Given the description of an element on the screen output the (x, y) to click on. 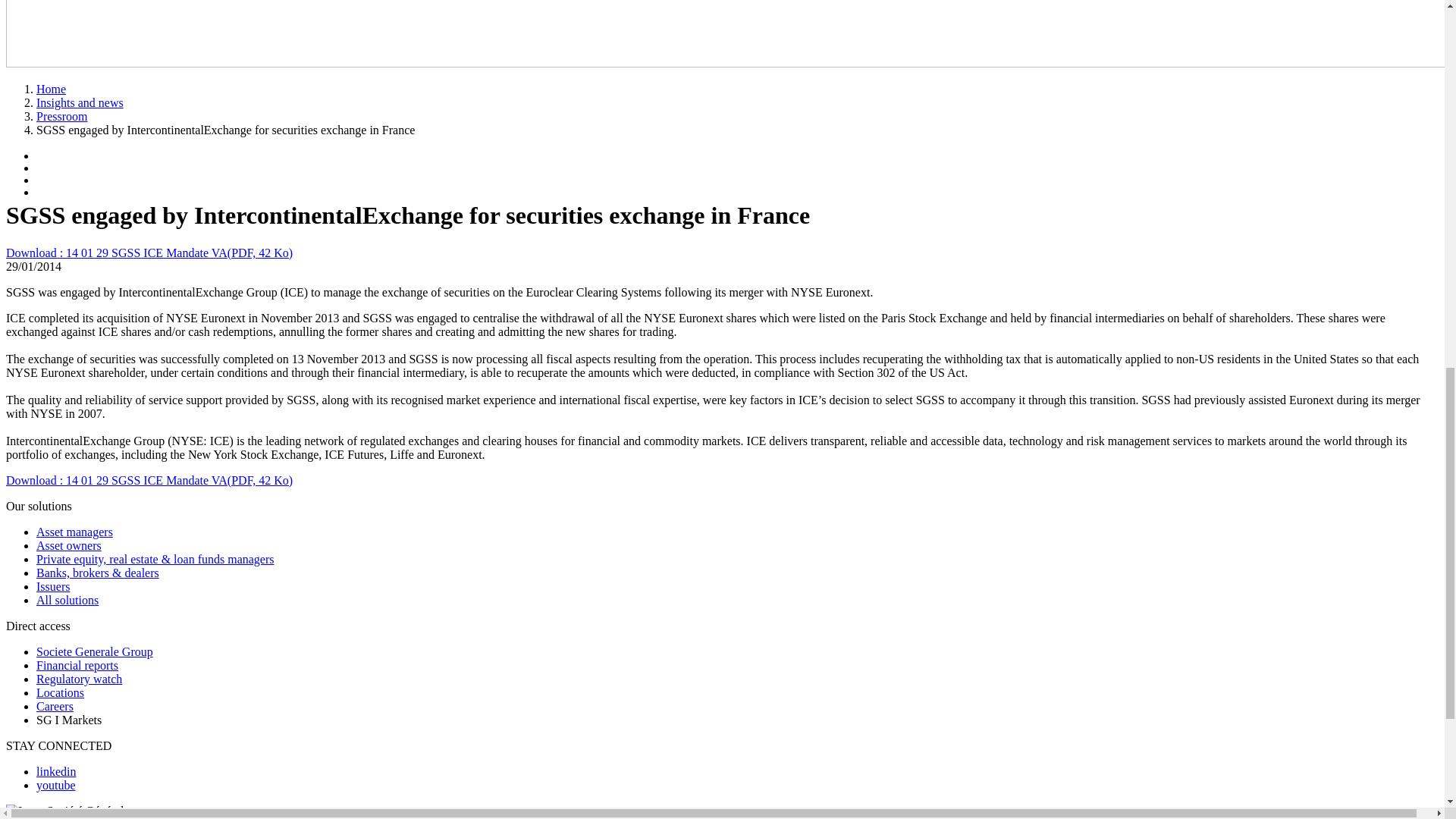
List of our locations - Same tab (60, 692)
Societe Generale Group - New tab (94, 651)
Insights and news (79, 102)
Home (50, 88)
Link to the Societe Generale careers website - New tab (55, 706)
Pressroom (61, 115)
